Given the description of an element on the screen output the (x, y) to click on. 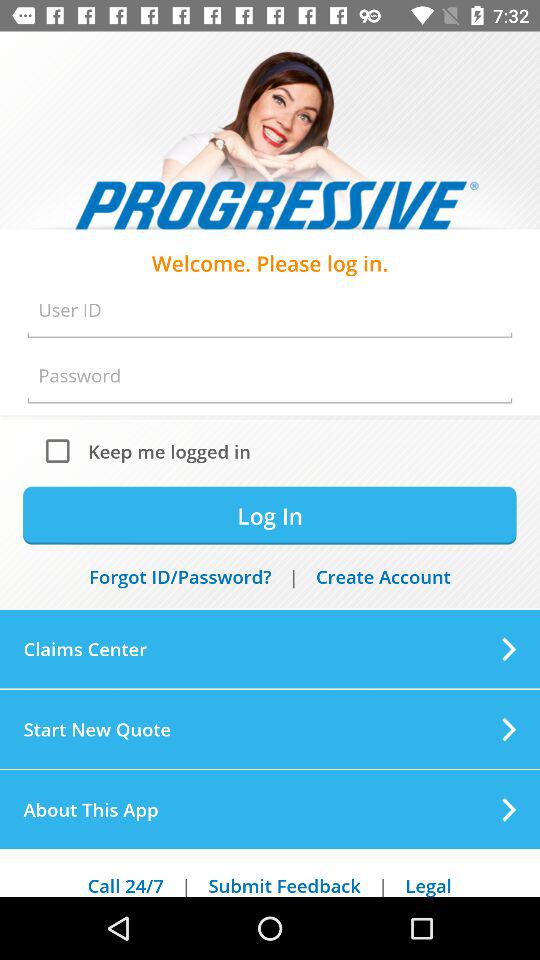
button if you want to keep logged in (62, 450)
